Given the description of an element on the screen output the (x, y) to click on. 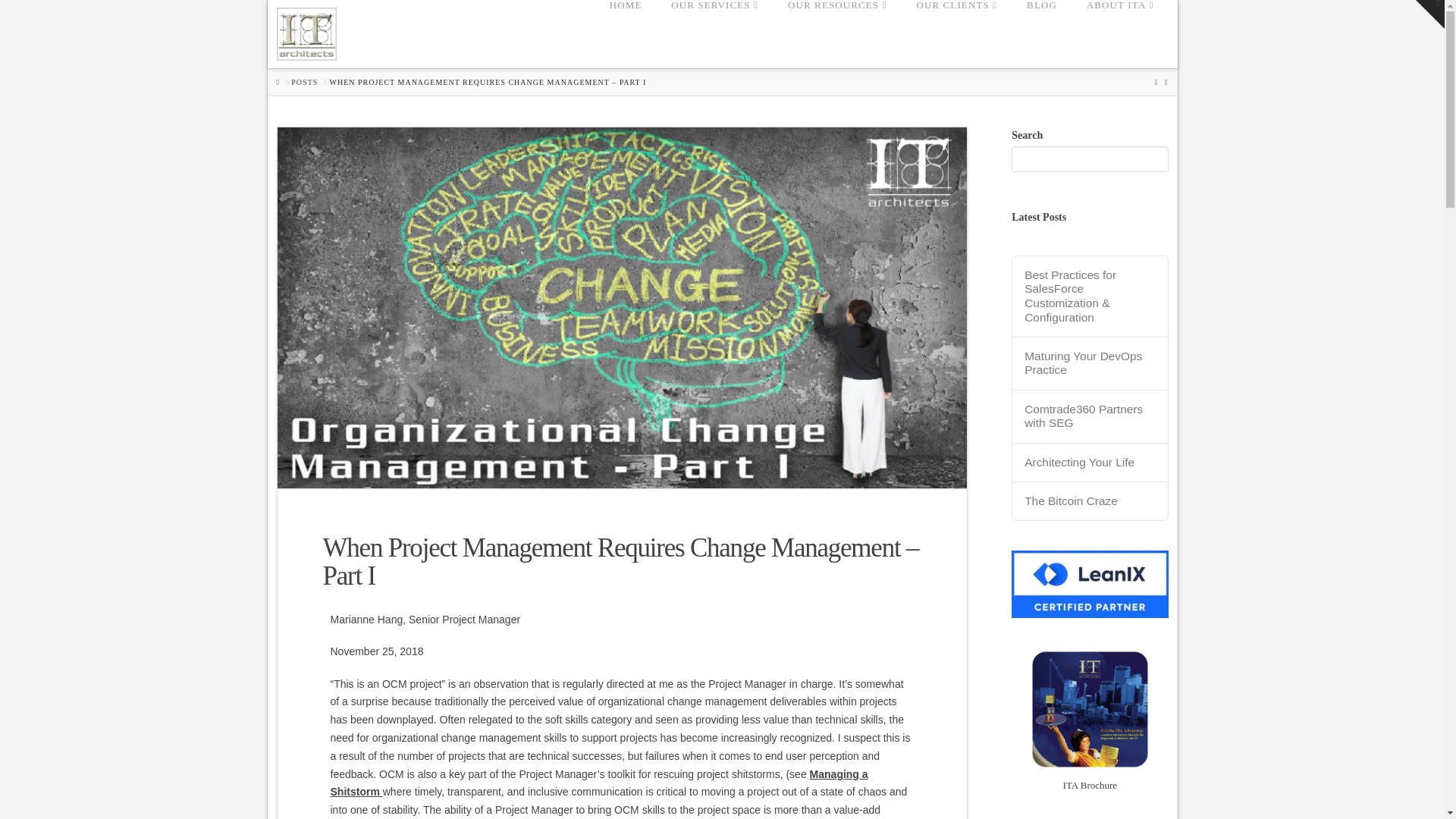
POSTS (304, 81)
OUR CLIENTS (956, 33)
BLOG (1041, 33)
ABOUT ITA (1120, 33)
HOME (625, 33)
OUR SERVICES (714, 33)
You Are Here (487, 81)
OUR RESOURCES (837, 33)
